Given the description of an element on the screen output the (x, y) to click on. 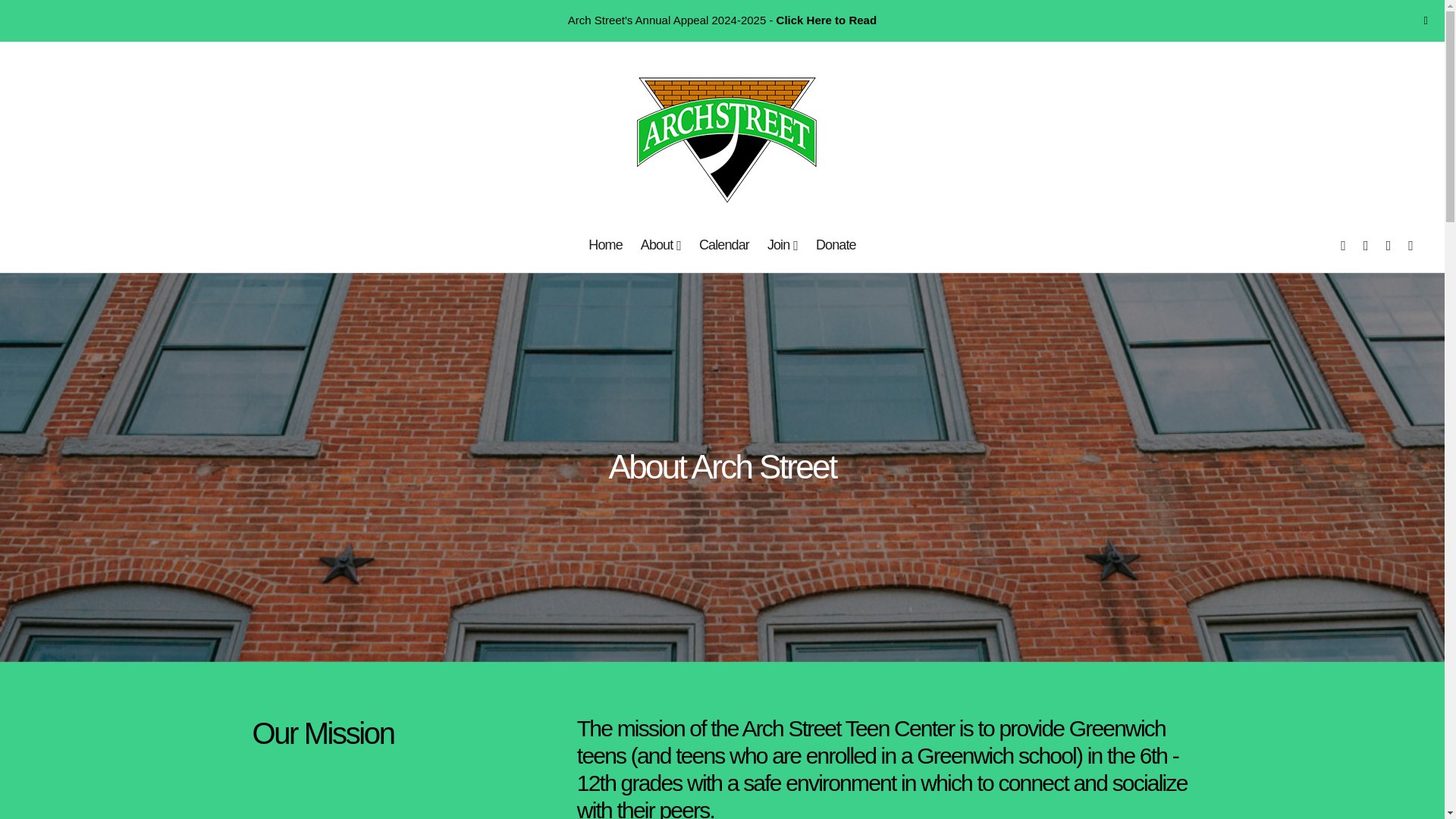
Donate (835, 245)
Join (782, 245)
Arch Street's Annual Appeal 2024-2025 - Click Here to Read (721, 19)
Calendar (724, 245)
About (660, 245)
Home (604, 245)
